Given the description of an element on the screen output the (x, y) to click on. 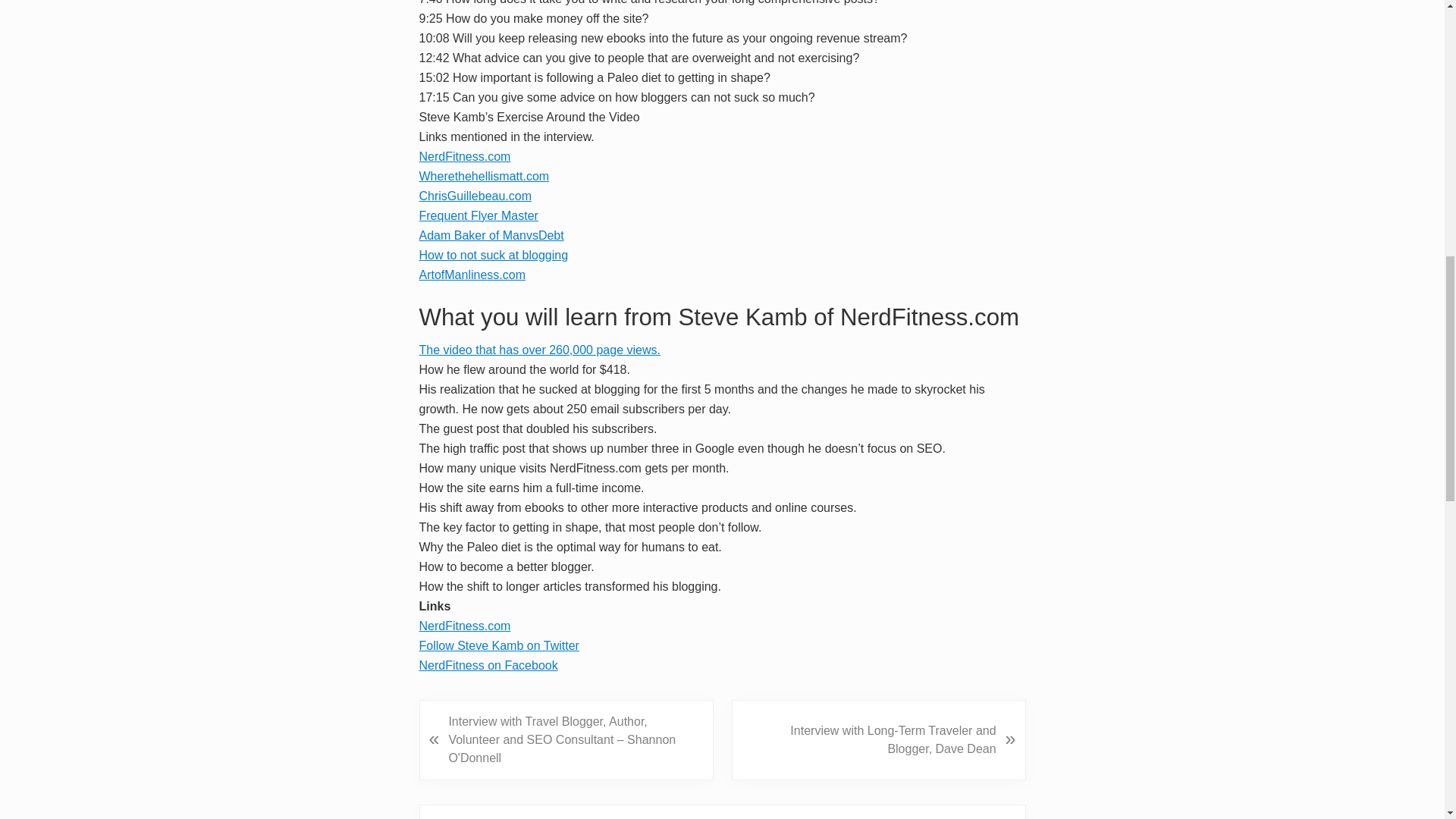
NerdFitness.com (465, 625)
ArtofManliness.com (472, 274)
NerdFitness on Facebook (488, 665)
Follow Steve Kamb on Twitter (498, 645)
Adam Baker of ManvsDebt (491, 235)
How to not suck at blogging (493, 254)
Frequent Flyer Master (478, 215)
NerdFitness.com (465, 155)
The video that has over 260,000 page views. (539, 349)
ChrisGuillebeau.com (475, 195)
Wherethehellismatt.com (483, 175)
